Given the description of an element on the screen output the (x, y) to click on. 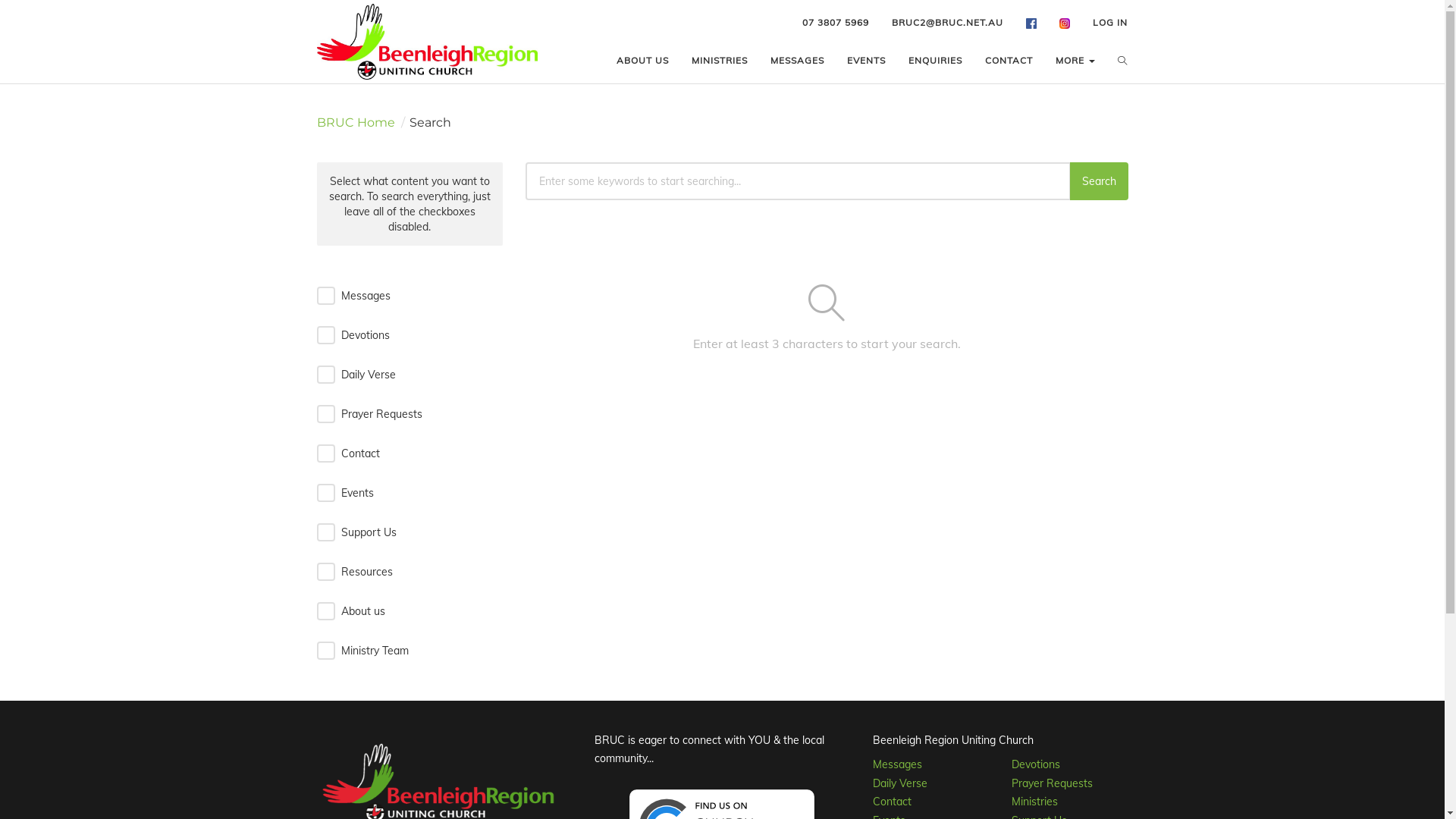
Messages Element type: text (897, 764)
Contact Element type: text (891, 801)
Search Element type: text (1098, 181)
MINISTRIES Element type: text (719, 60)
LOG IN Element type: text (1110, 22)
Prayer Requests Element type: text (1051, 783)
MESSAGES Element type: text (797, 60)
Devotions Element type: text (1035, 764)
ENQUIRIES Element type: text (935, 60)
BRUC Home Element type: text (355, 122)
ABOUT US Element type: text (642, 60)
Daily Verse Element type: text (899, 783)
BRUC2@BRUC.NET.AU Element type: text (947, 22)
EVENTS Element type: text (866, 60)
CONTACT Element type: text (1008, 60)
07 3807 5969 Element type: text (835, 22)
MORE Element type: text (1075, 60)
Ministries Element type: text (1034, 801)
